Given the description of an element on the screen output the (x, y) to click on. 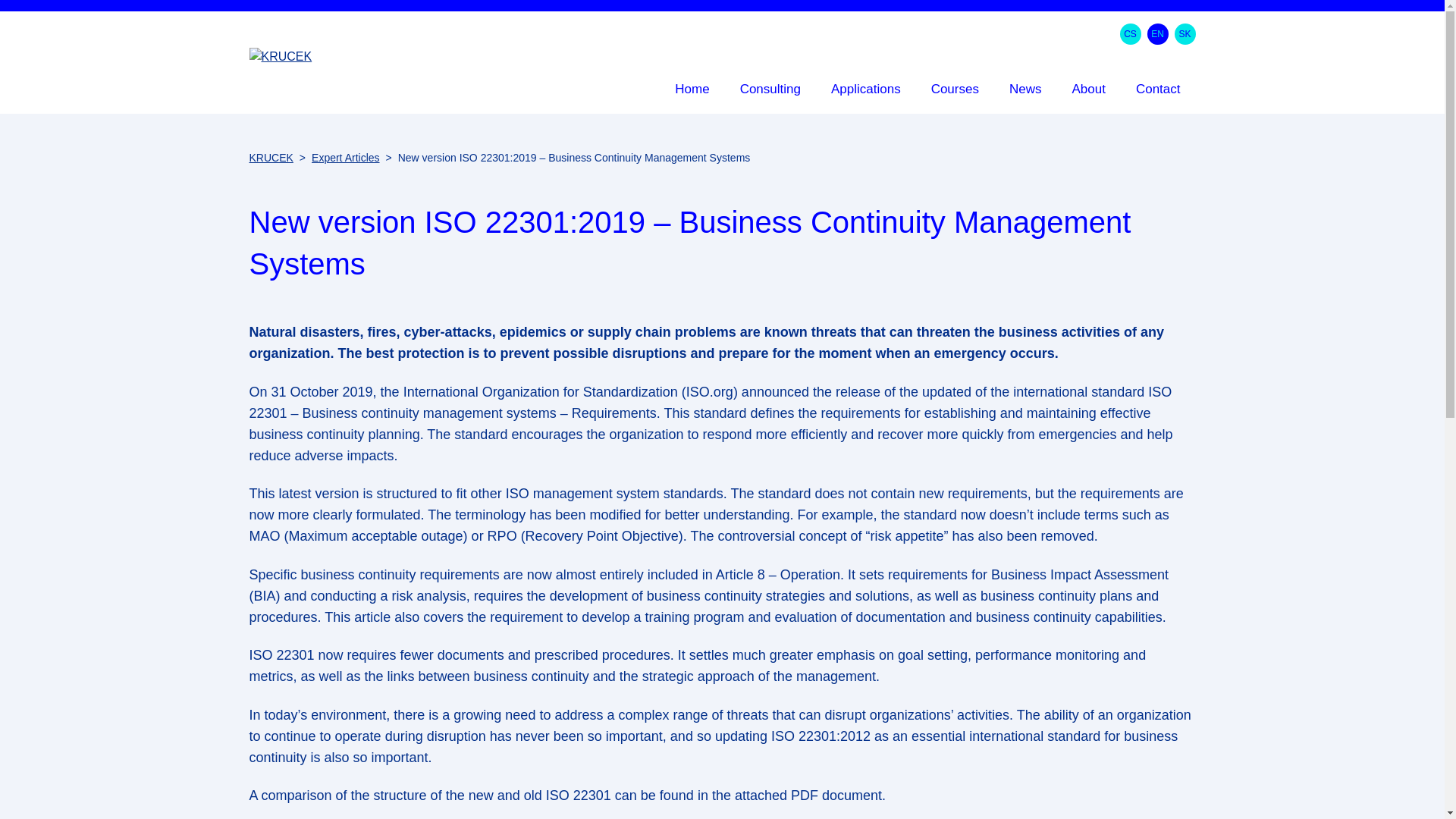
KRUCEK (270, 157)
EN (1157, 34)
News (1025, 92)
SK (1184, 34)
Courses (954, 92)
Expert Articles (344, 157)
Consulting (770, 92)
CS (1129, 34)
Home (691, 92)
Contact (1158, 92)
About (1088, 92)
Applications (865, 92)
